Given the description of an element on the screen output the (x, y) to click on. 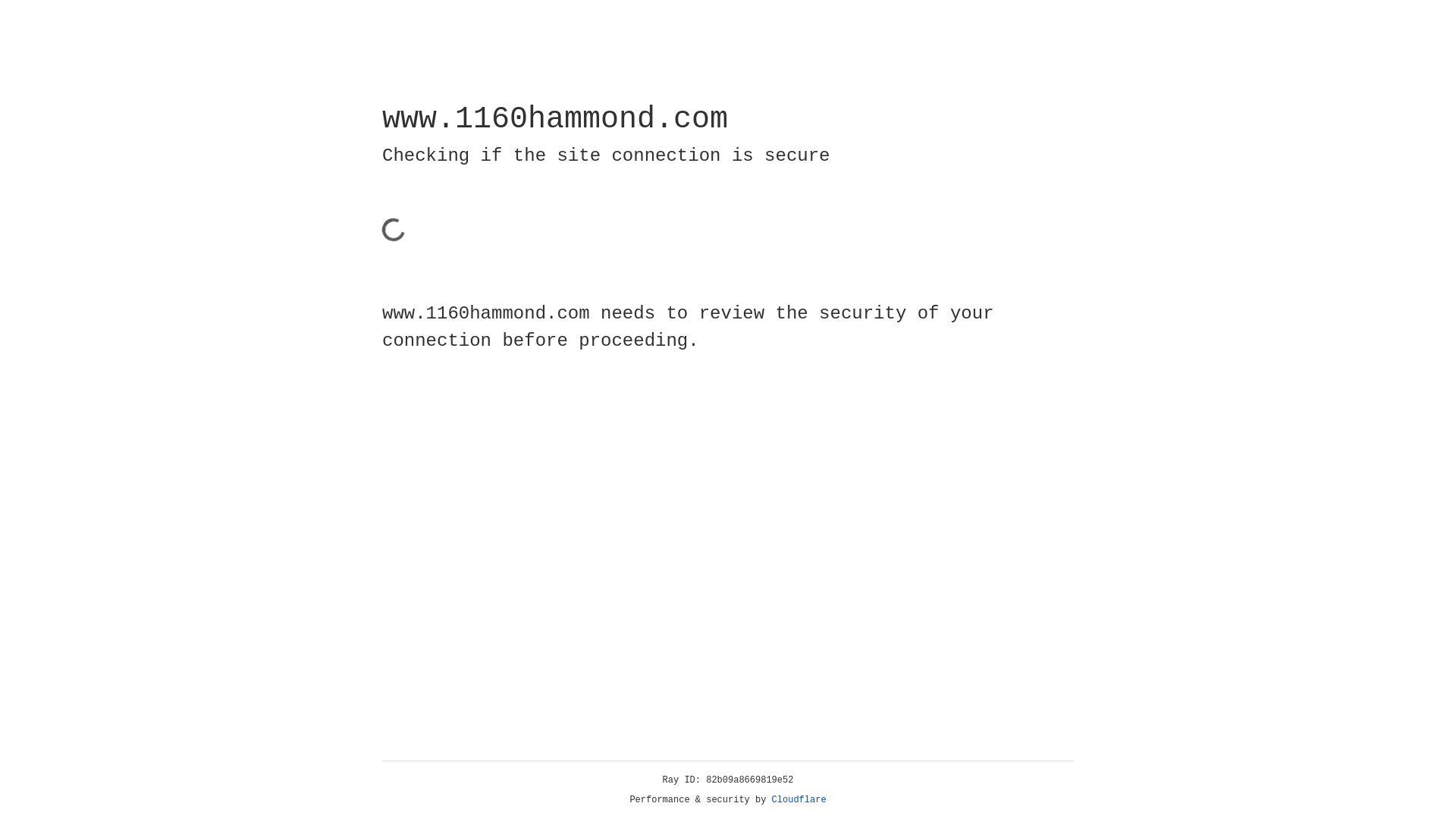
Cloudflare Element type: text (798, 799)
